Given the description of an element on the screen output the (x, y) to click on. 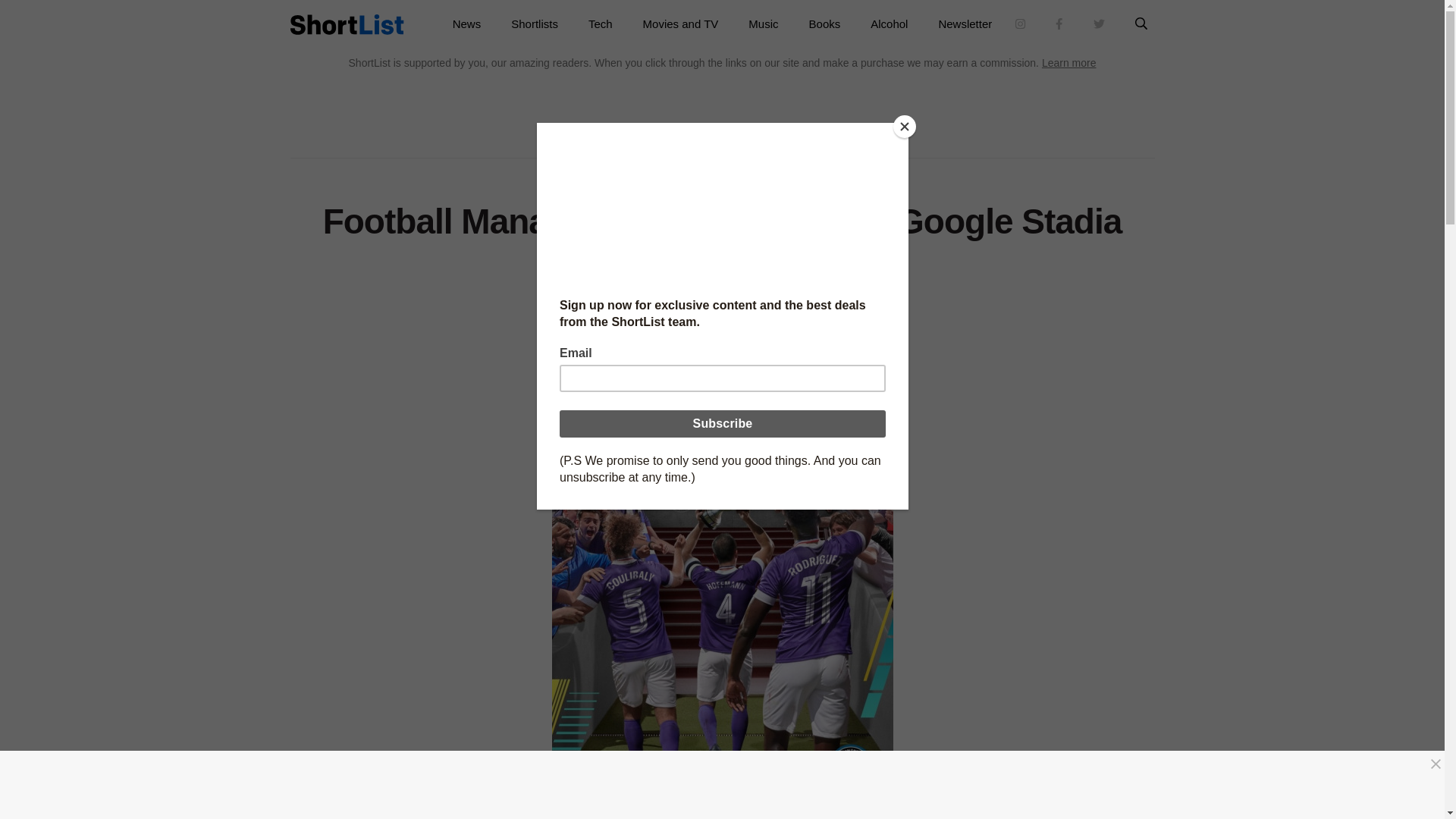
Visit :sitename on Instagram (1020, 24)
Facebook (701, 307)
Newsletter (965, 23)
Movies and TV (680, 23)
GAMING (740, 175)
HOME (699, 175)
News (467, 23)
Books (824, 23)
Visit :sitename on Twitter (1098, 24)
Shortlist (346, 24)
Tech (600, 23)
Twitter (742, 307)
Alcohol (889, 23)
Shortlists (534, 23)
